Given the description of an element on the screen output the (x, y) to click on. 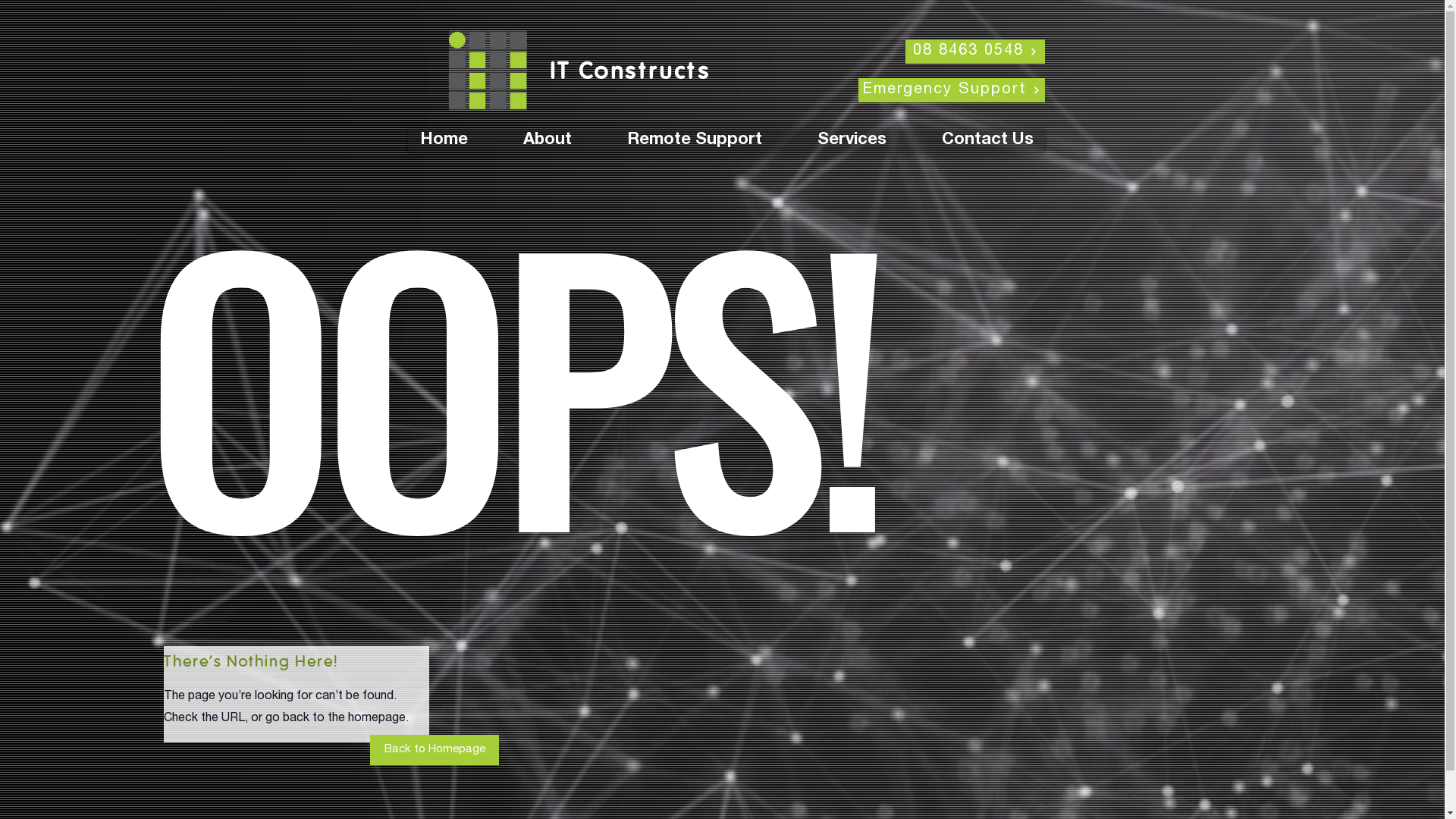
Emergency Support Element type: text (951, 90)
Services Element type: text (835, 140)
08 8463 0548 Element type: text (974, 51)
IT Constructs Element type: text (629, 73)
About Element type: text (531, 140)
Contact Us Element type: text (970, 140)
Remote Support Element type: text (677, 140)
Home Element type: text (426, 140)
